Given the description of an element on the screen output the (x, y) to click on. 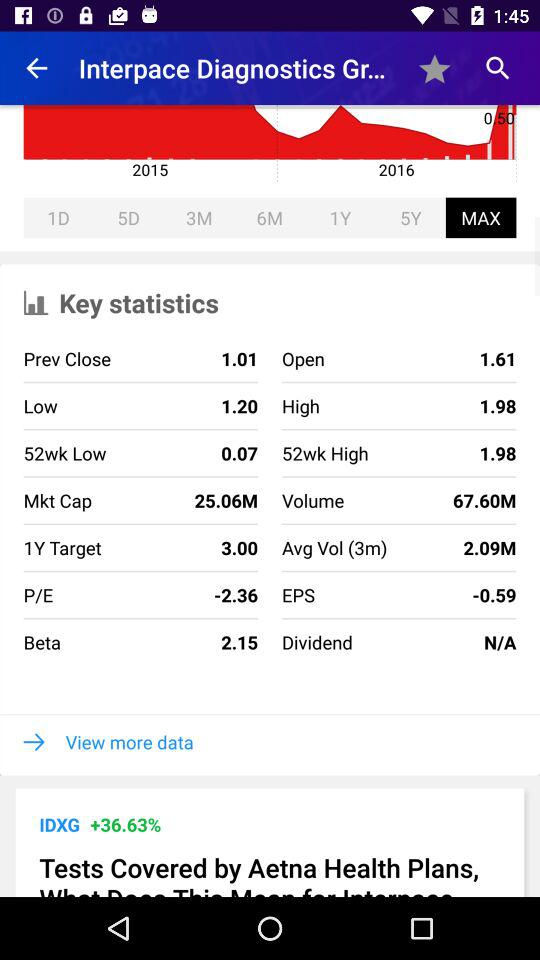
choose dividend item (316, 642)
